Given the description of an element on the screen output the (x, y) to click on. 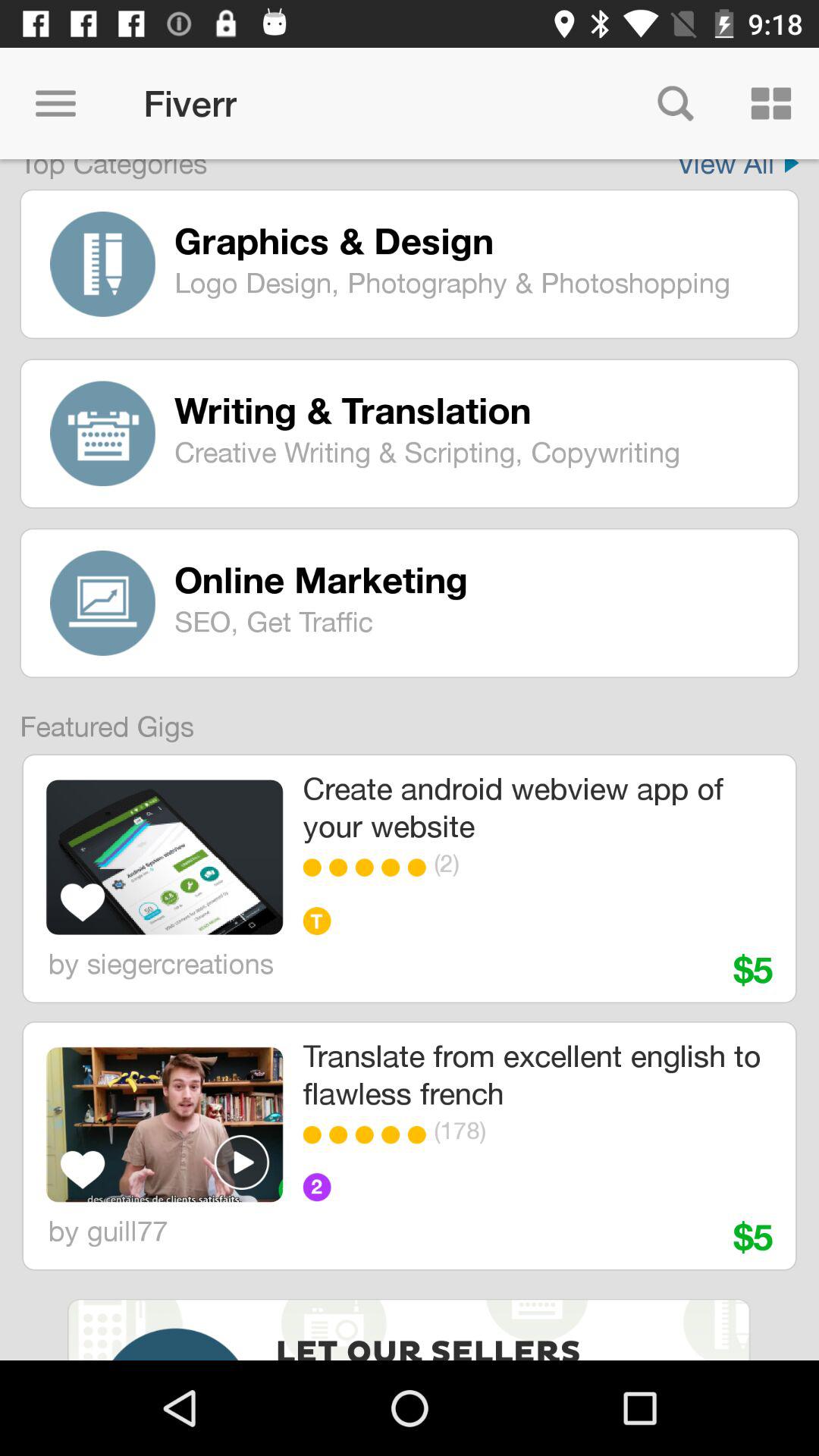
select view all (738, 169)
